Given the description of an element on the screen output the (x, y) to click on. 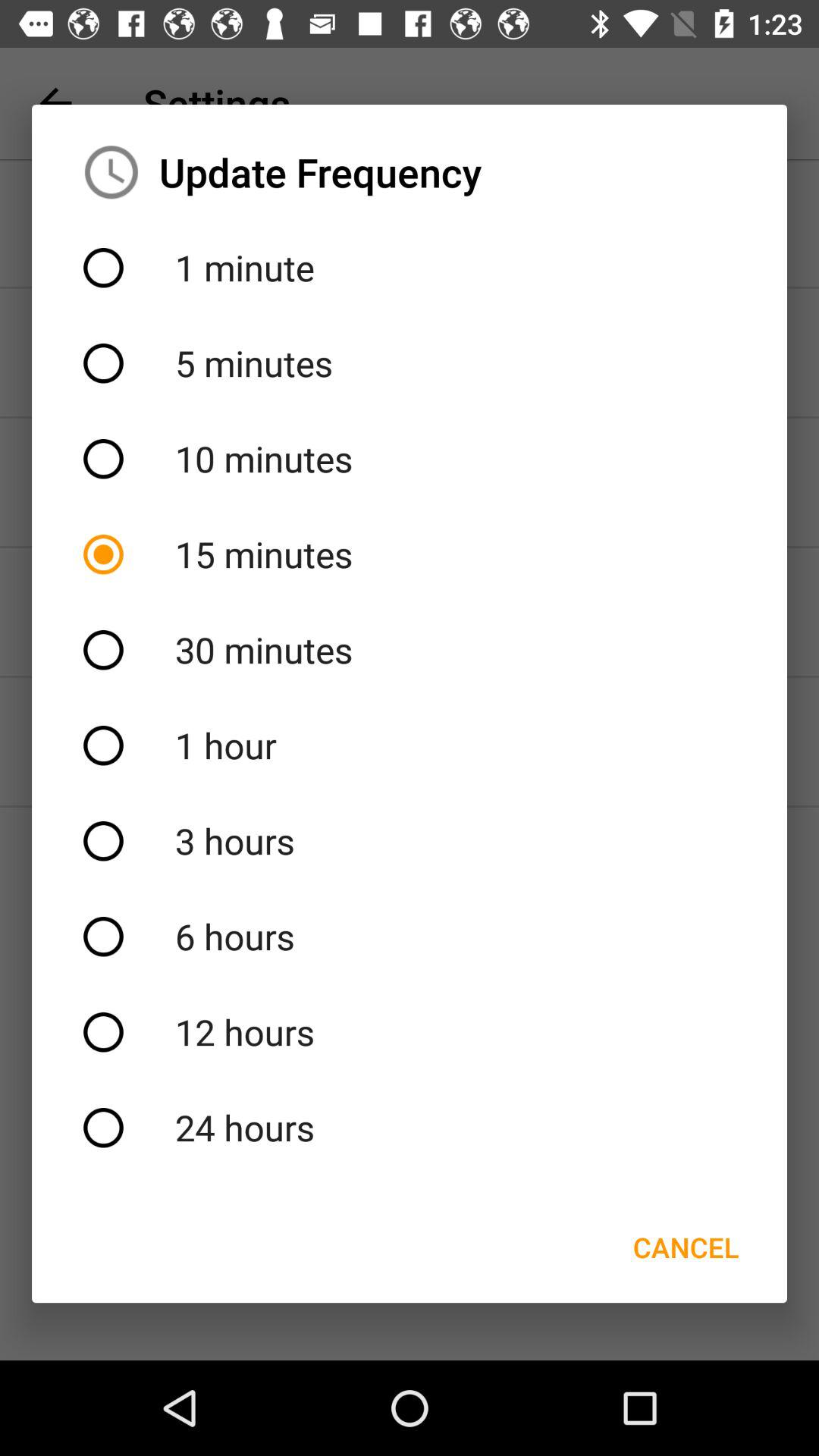
select 3 hours icon (409, 840)
